Given the description of an element on the screen output the (x, y) to click on. 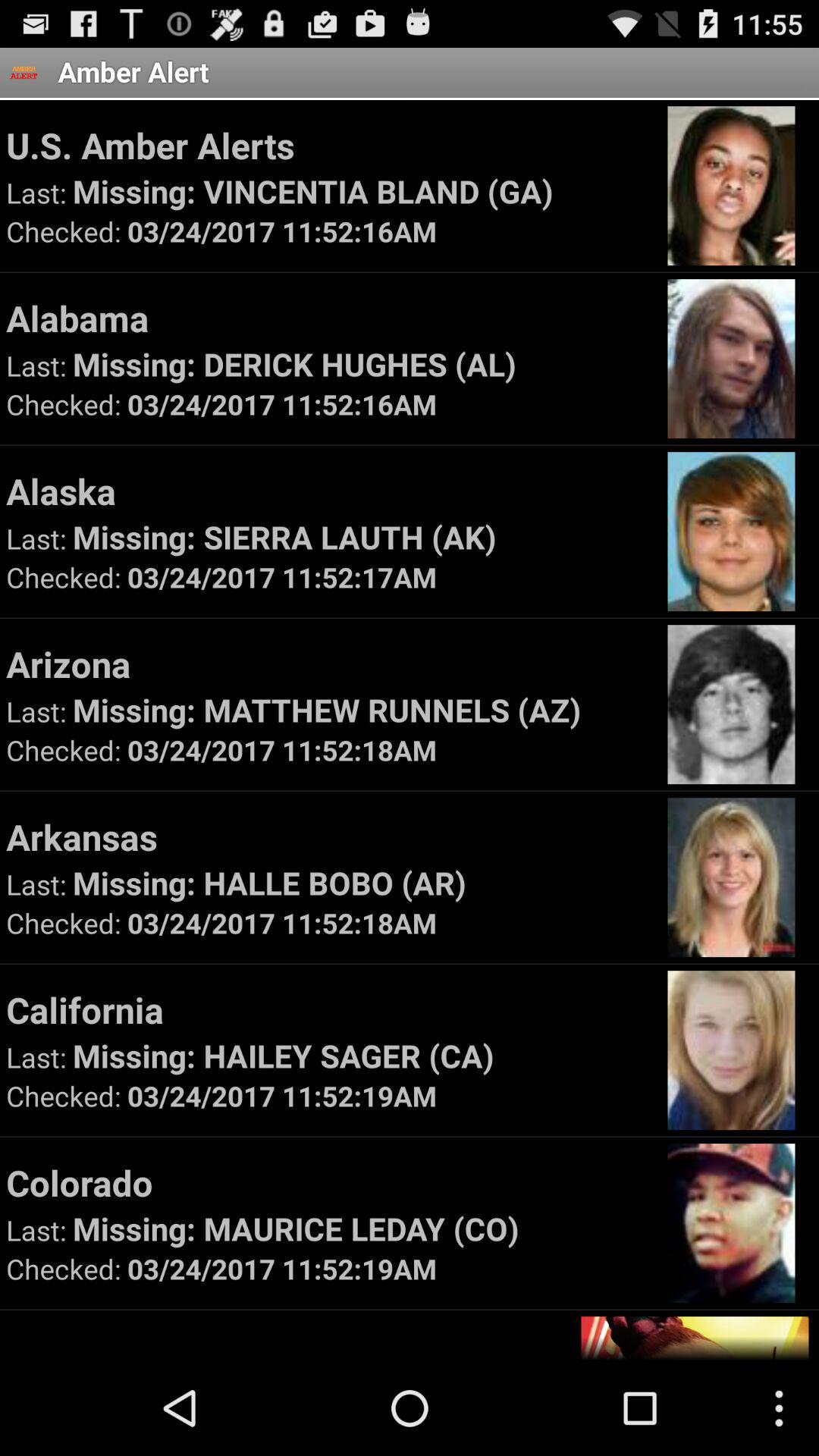
open the app above the missing matthew runnels app (329, 663)
